Given the description of an element on the screen output the (x, y) to click on. 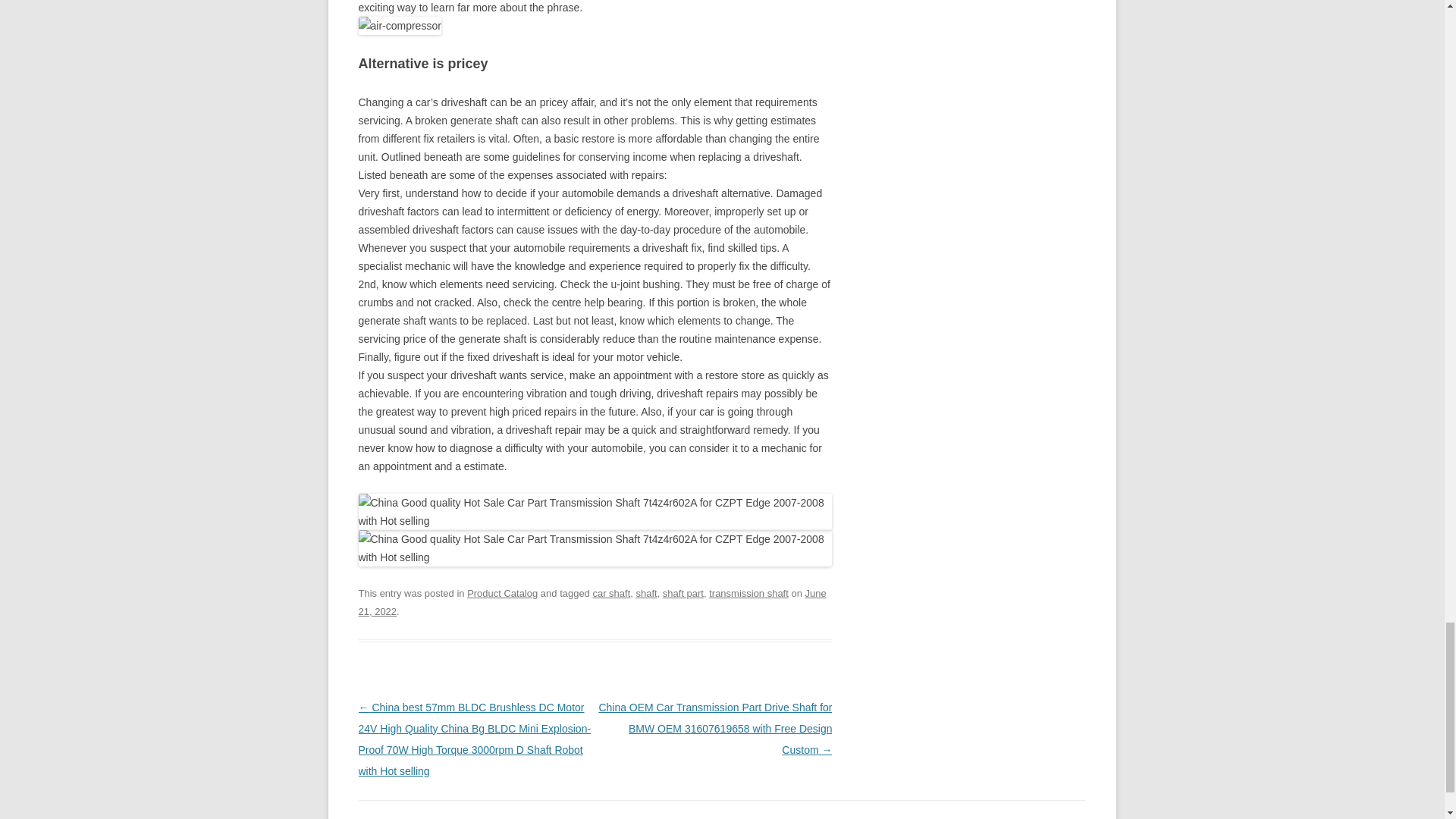
shaft part (682, 593)
transmission shaft (749, 593)
5:09 pm (591, 602)
Product Catalog (502, 593)
shaft (645, 593)
June 21, 2022 (591, 602)
car shaft (611, 593)
